Given the description of an element on the screen output the (x, y) to click on. 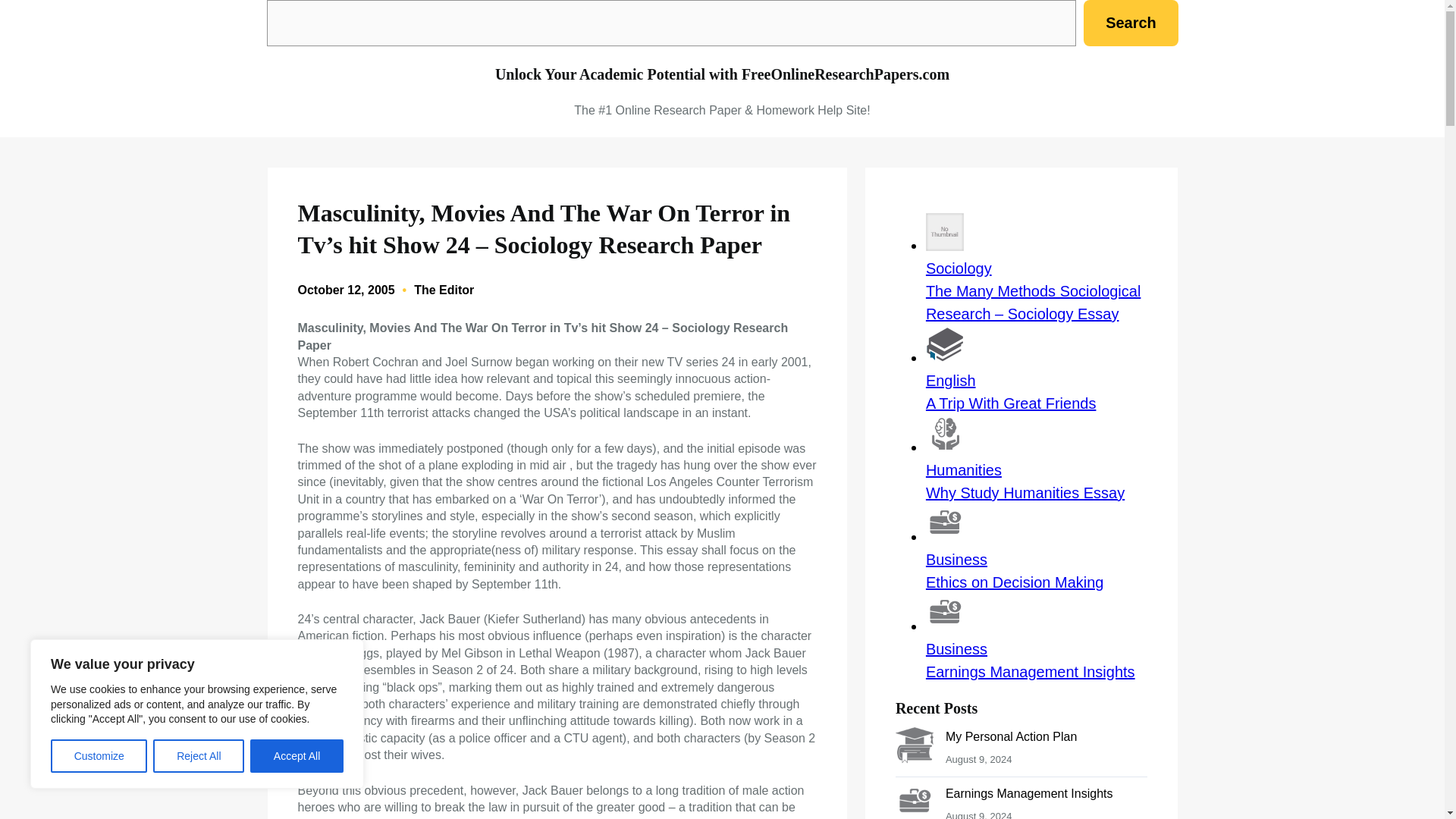
Accept All (296, 756)
Customize (98, 756)
Earnings Management Insights (1028, 793)
Search (1130, 22)
Reject All (198, 756)
My Personal Action Plan (1010, 736)
The Editor (443, 289)
